Given the description of an element on the screen output the (x, y) to click on. 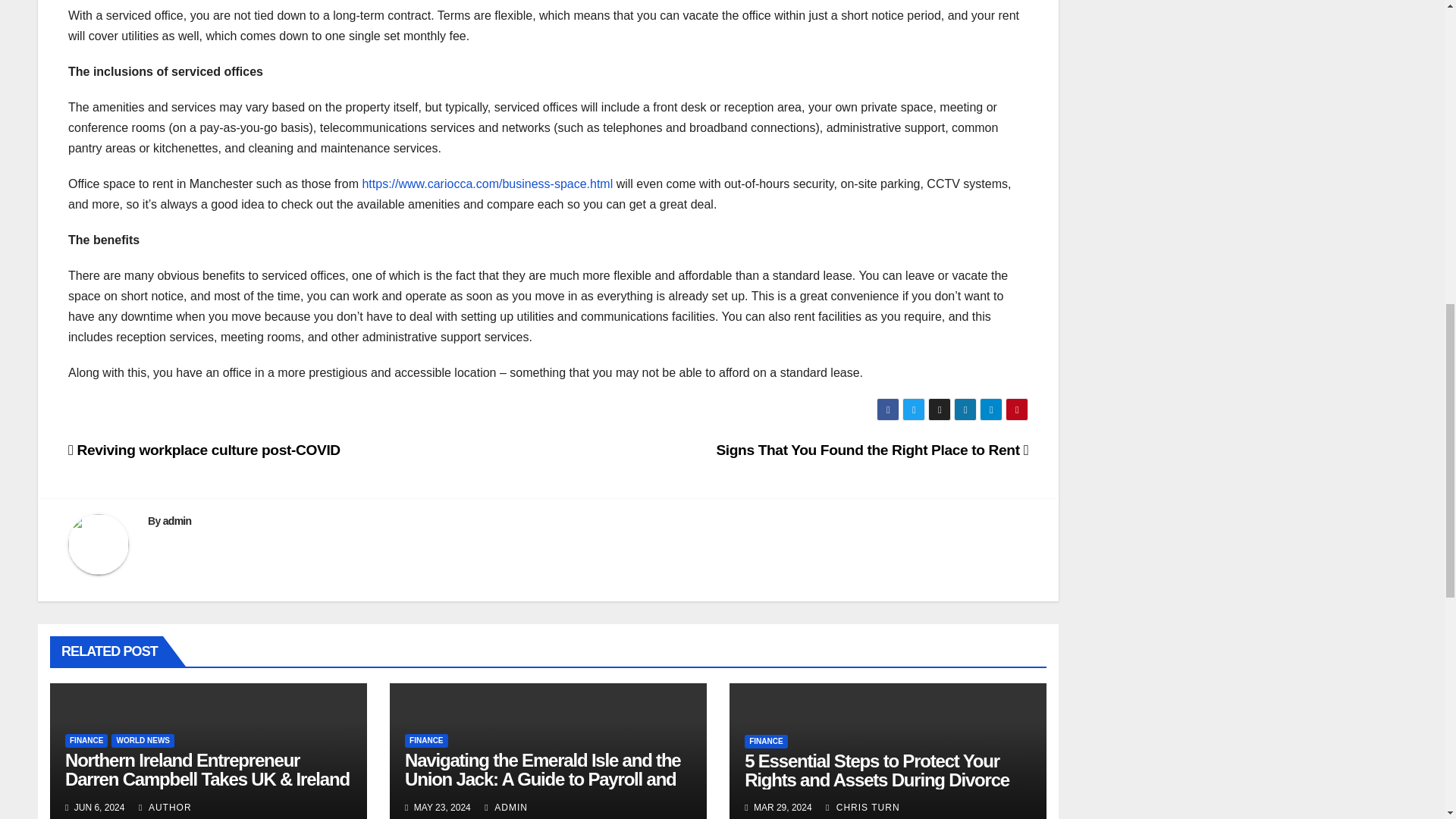
CHRIS TURN (862, 807)
AUTHOR (165, 807)
ADMIN (505, 807)
Reviving workplace culture post-COVID (204, 449)
FINANCE (86, 740)
FINANCE (765, 741)
Signs That You Found the Right Place to Rent (871, 449)
admin (177, 521)
